Given the description of an element on the screen output the (x, y) to click on. 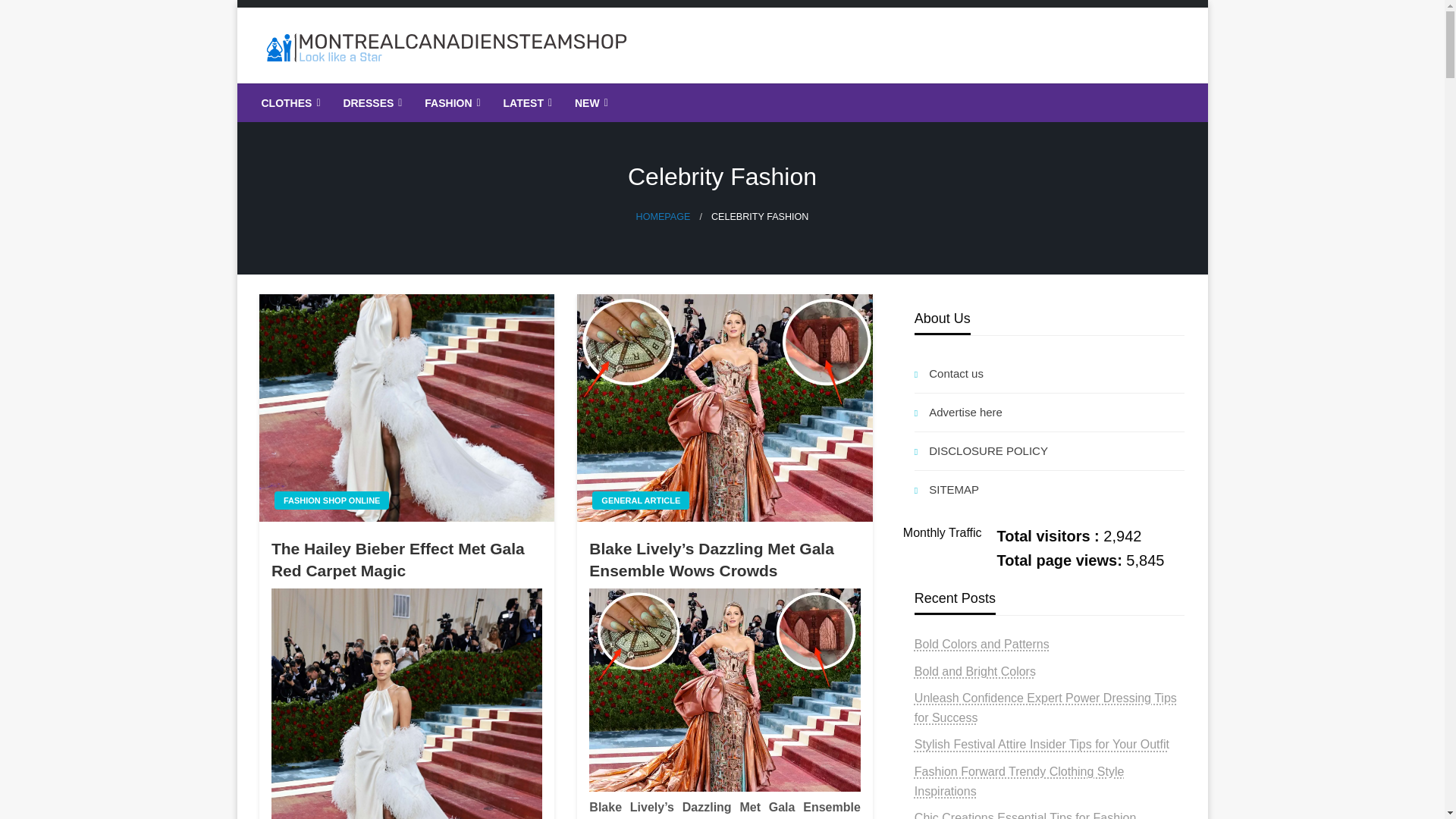
NEW (589, 103)
MONTREALCANADIENSTEAMSHOP (520, 95)
The Hailey Bieber Effect Met Gala Red Carpet Magic (406, 407)
The Hailey Bieber Effect Met Gala Red Carpet Magic (405, 559)
FASHION SHOP ONLINE (332, 500)
HOMEPAGE (663, 216)
Homepage (663, 216)
FASHION (450, 103)
GENERAL ARTICLE (640, 500)
